Given the description of an element on the screen output the (x, y) to click on. 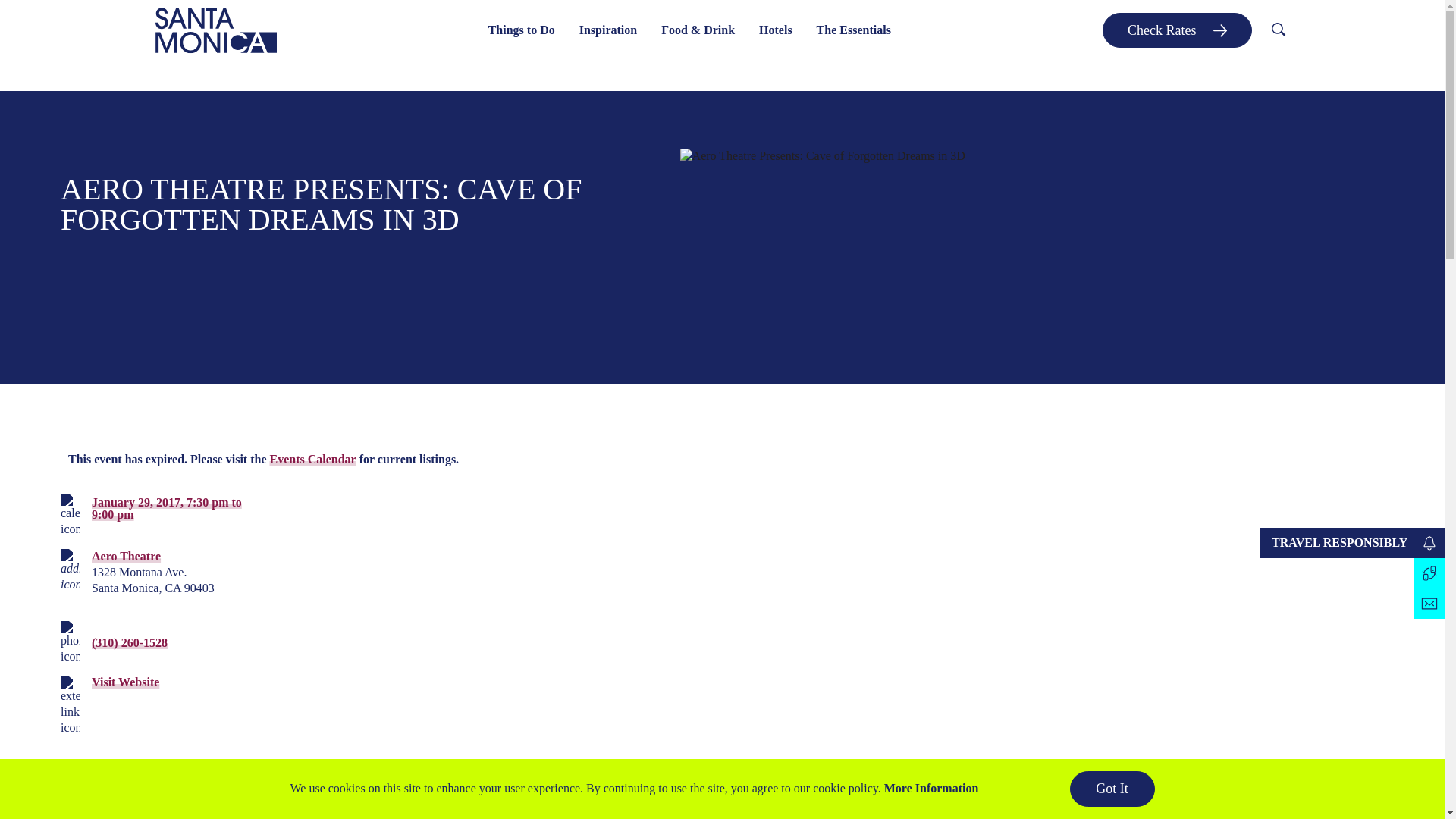
Things to Do (521, 29)
Inspiration (608, 29)
